Given the description of an element on the screen output the (x, y) to click on. 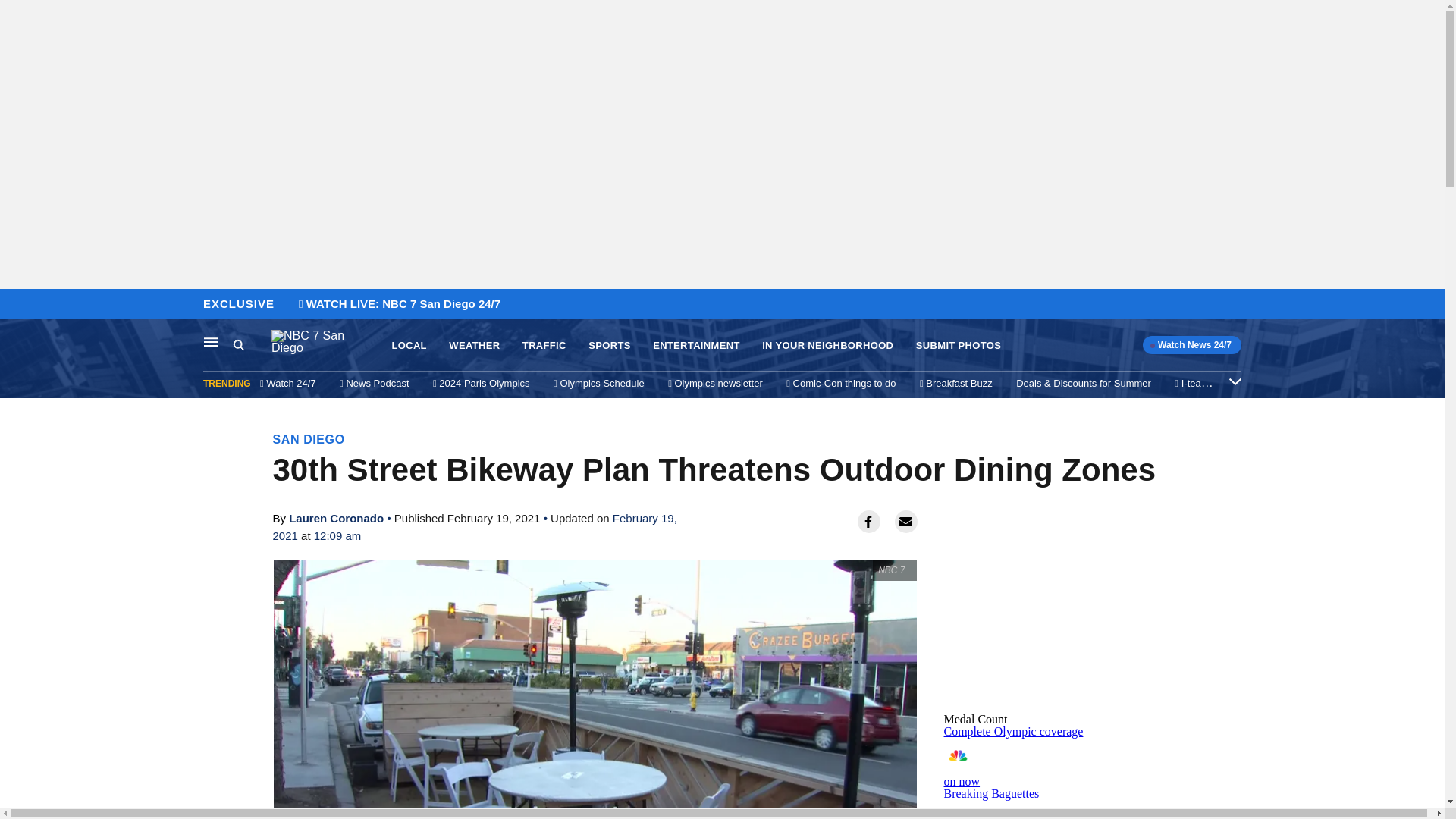
TRAFFIC (544, 345)
SUBMIT PHOTOS (958, 345)
IN YOUR NEIGHBORHOOD (827, 345)
Main Navigation (210, 341)
Search (252, 345)
WEATHER (473, 345)
SAN DIEGO (309, 439)
Lauren Coronado (336, 517)
Search (238, 344)
SPORTS (609, 345)
Expand (1234, 381)
ENTERTAINMENT (695, 345)
LOCAL (408, 345)
Skip to content (16, 304)
